Given the description of an element on the screen output the (x, y) to click on. 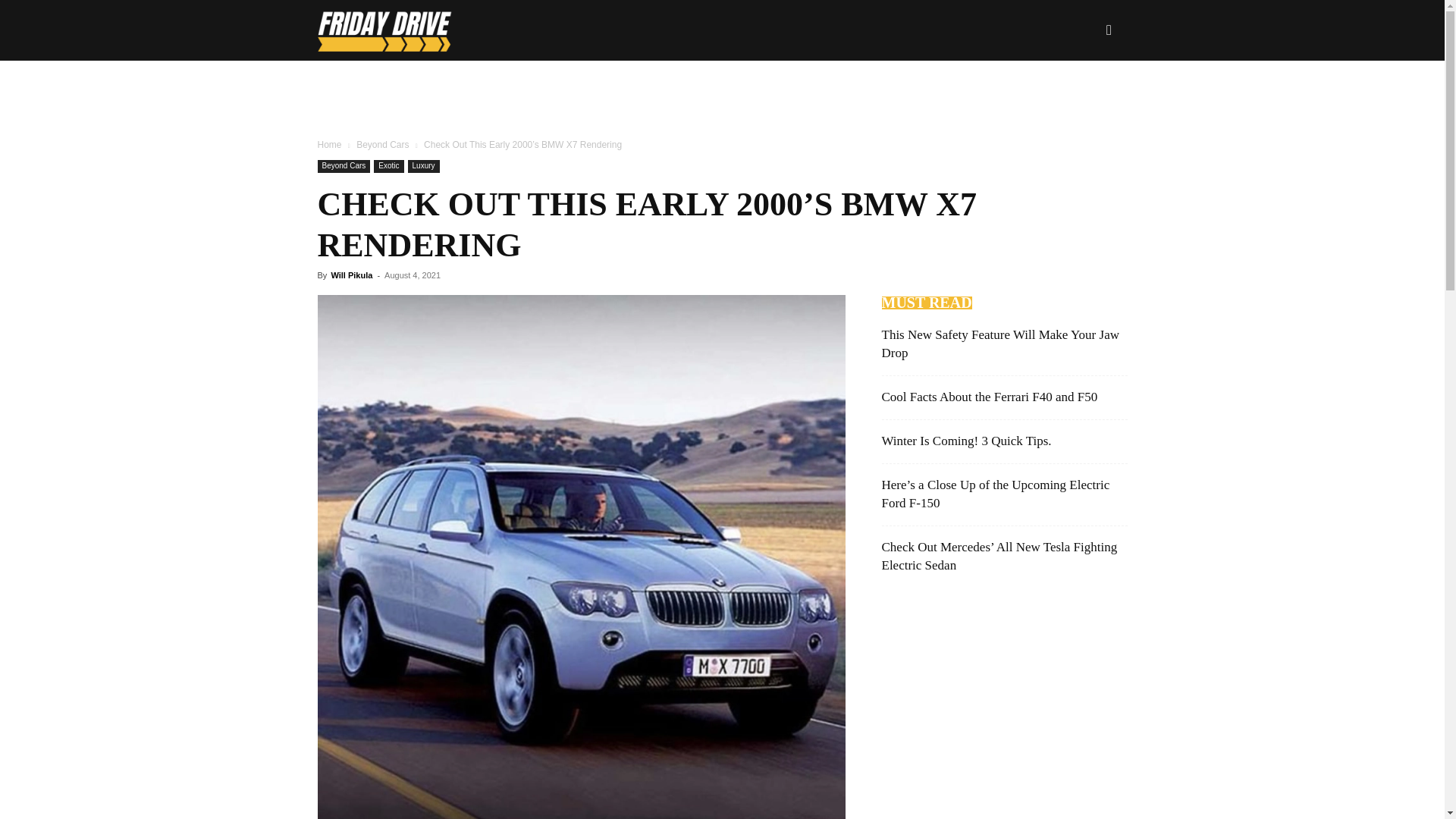
This New Safety Feature Will Make Your Jaw Drop (999, 343)
Friday Drive (401, 30)
Cool Facts About the Ferrari F40 and F50 (988, 396)
SPEED (829, 90)
LUXURY (905, 90)
ELECTRIC (747, 90)
FAMILY (978, 90)
Winter Is Coming! 3 Quick Tips. (965, 440)
Search (1085, 102)
View all posts in Beyond Cars (382, 144)
NEWS (565, 90)
HOME (498, 90)
OFF ROAD (652, 90)
